Given the description of an element on the screen output the (x, y) to click on. 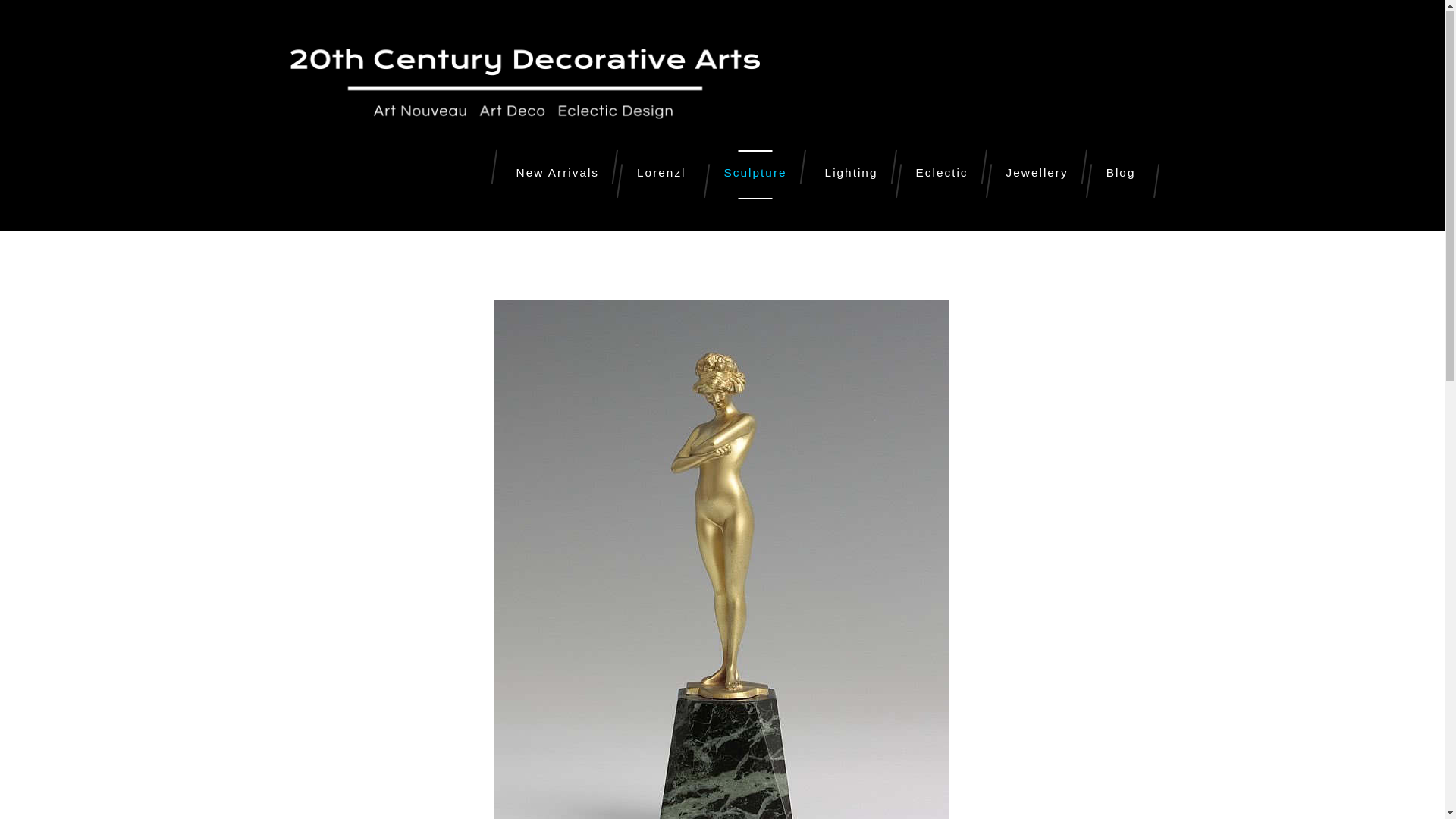
Jewellery Element type: text (1037, 175)
Sculpture Element type: text (755, 175)
Lighting Element type: text (851, 175)
New Arrivals Element type: text (557, 175)
Lorenzl Element type: text (661, 175)
Blog Element type: text (1120, 175)
Eclectic Element type: text (941, 175)
